Given the description of an element on the screen output the (x, y) to click on. 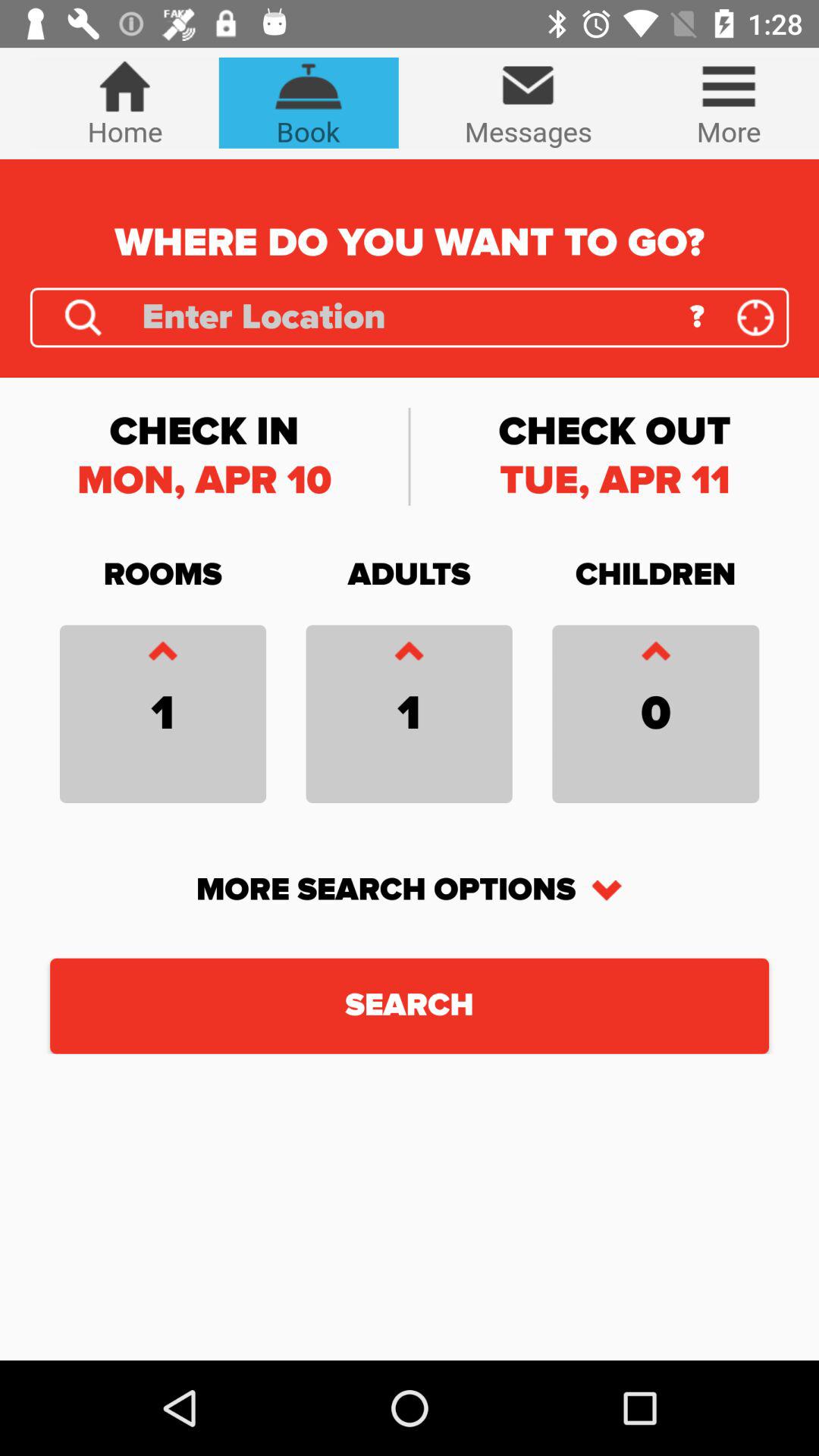
change number of rooms (162, 654)
